Given the description of an element on the screen output the (x, y) to click on. 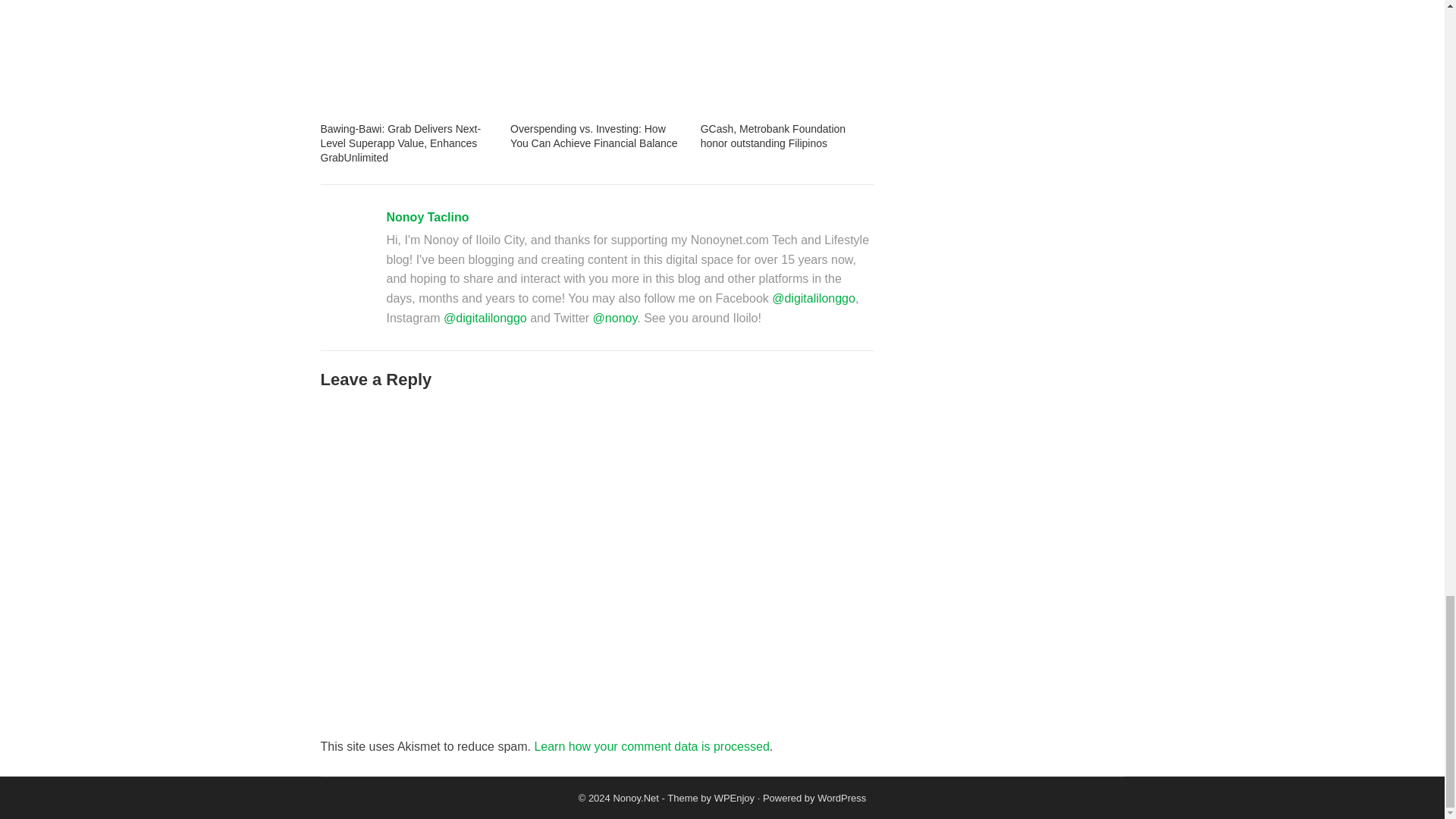
GCash, Metrobank Foundation honor outstanding Filipinos (772, 135)
